Given the description of an element on the screen output the (x, y) to click on. 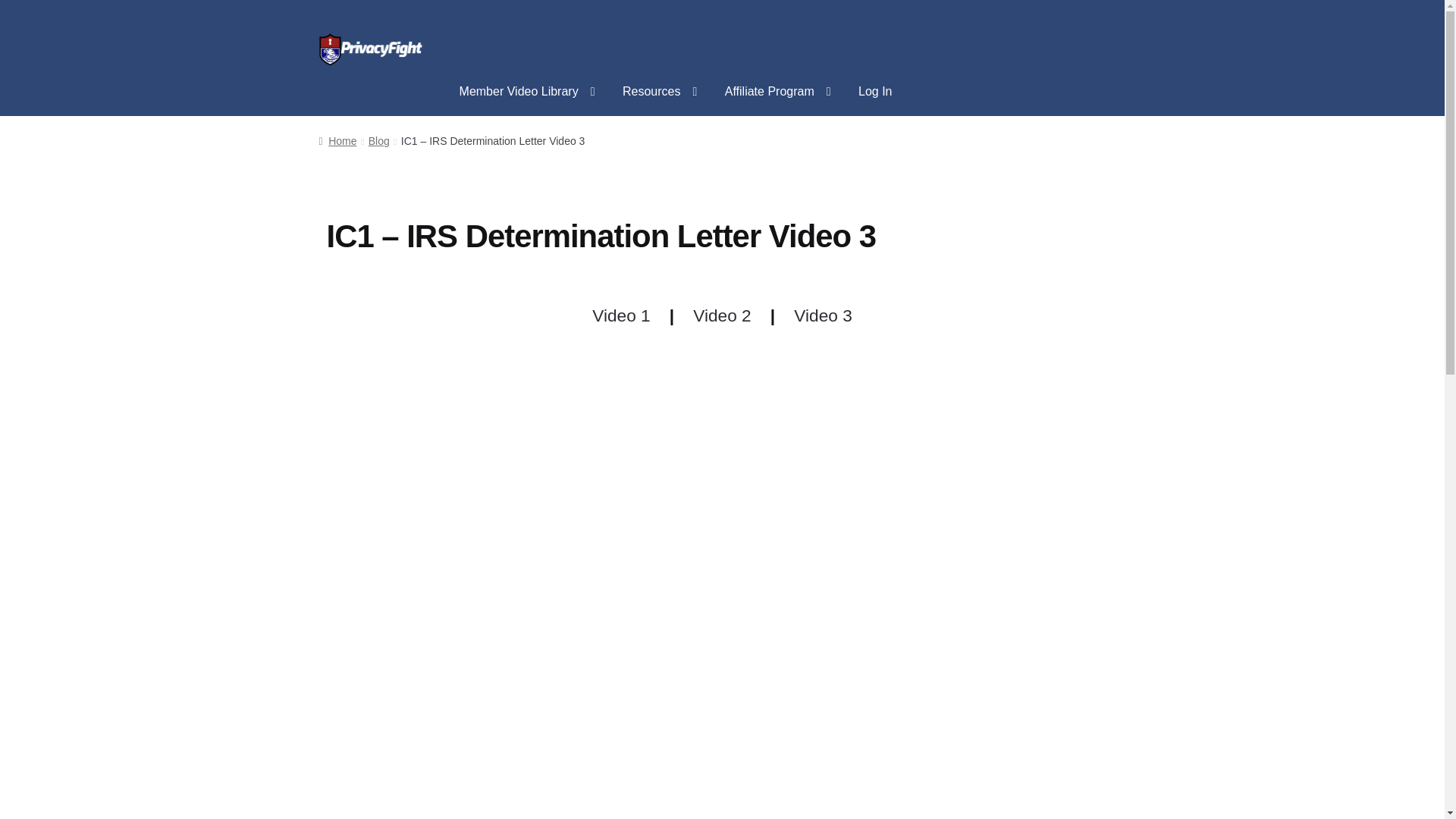
Resources (659, 91)
Log In (874, 91)
Member Video Library (526, 91)
Affiliate Program (778, 91)
